Given the description of an element on the screen output the (x, y) to click on. 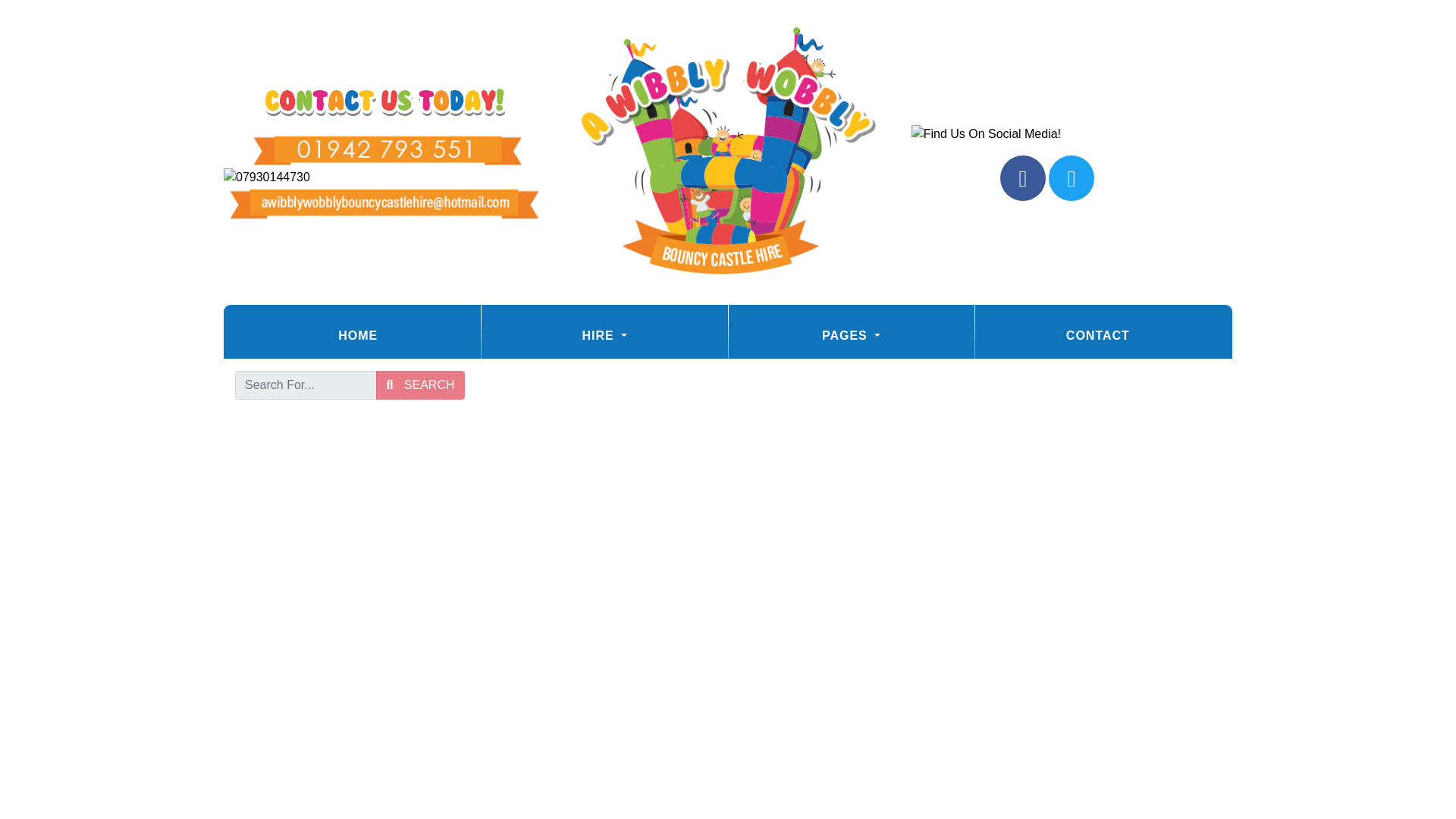
Call us today! (384, 150)
PAGES (851, 335)
SEARCH (419, 385)
CONTACT (1098, 335)
A Wibbly Wobbly Castle Hire (727, 152)
Call us today! (384, 177)
Send us an email! (384, 203)
HIRE (603, 335)
